Given the description of an element on the screen output the (x, y) to click on. 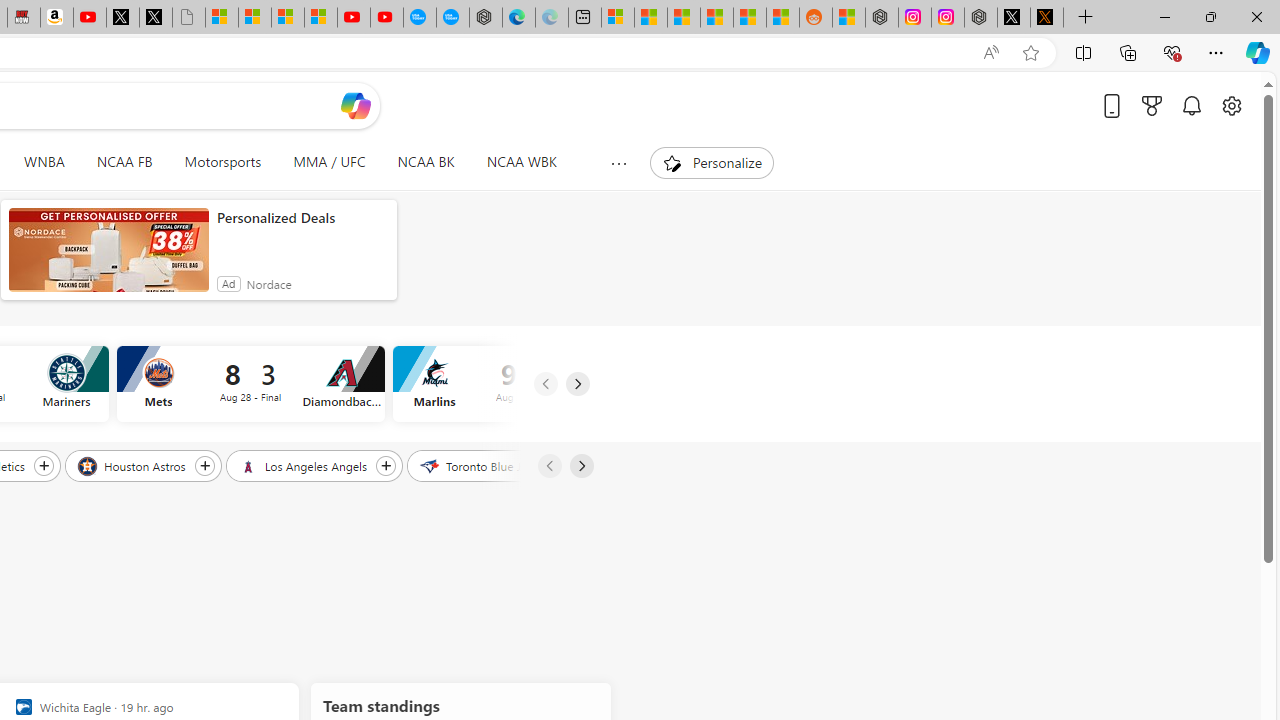
Los Angeles Angels (304, 465)
Previous (548, 465)
Untitled (188, 17)
Shanghai, China hourly forecast | Microsoft Weather (684, 17)
Open settings (1231, 105)
Houston Astros (132, 465)
NCAA FB (124, 162)
Toronto Blue Jays (481, 465)
NCAA WBK (521, 162)
Nordace (@NordaceOfficial) / X (1014, 17)
Show more topics (617, 163)
